Given the description of an element on the screen output the (x, y) to click on. 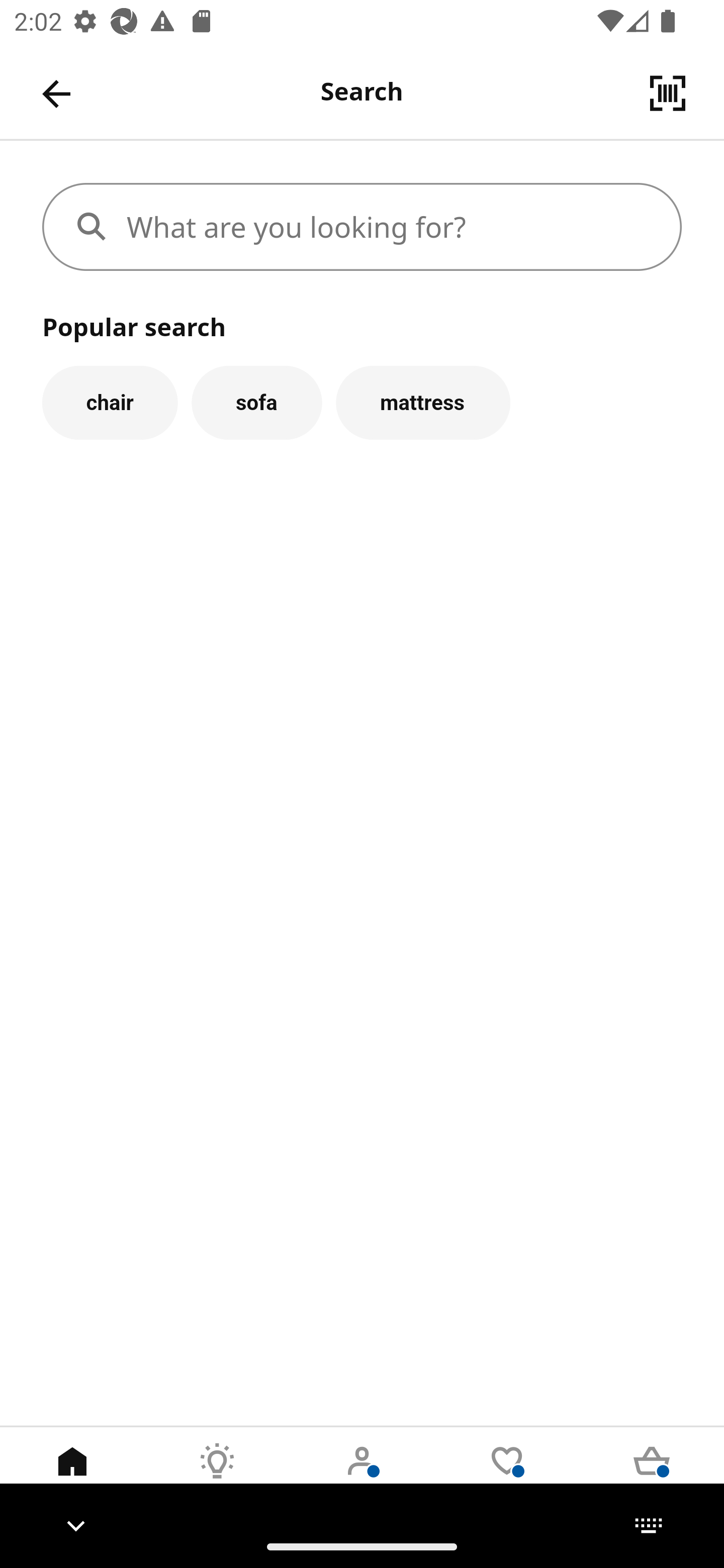
chair (109, 402)
sofa (256, 402)
mattress (423, 402)
Home
Tab 1 of 5 (72, 1476)
Inspirations
Tab 2 of 5 (216, 1476)
User
Tab 3 of 5 (361, 1476)
Wishlist
Tab 4 of 5 (506, 1476)
Cart
Tab 5 of 5 (651, 1476)
